Given the description of an element on the screen output the (x, y) to click on. 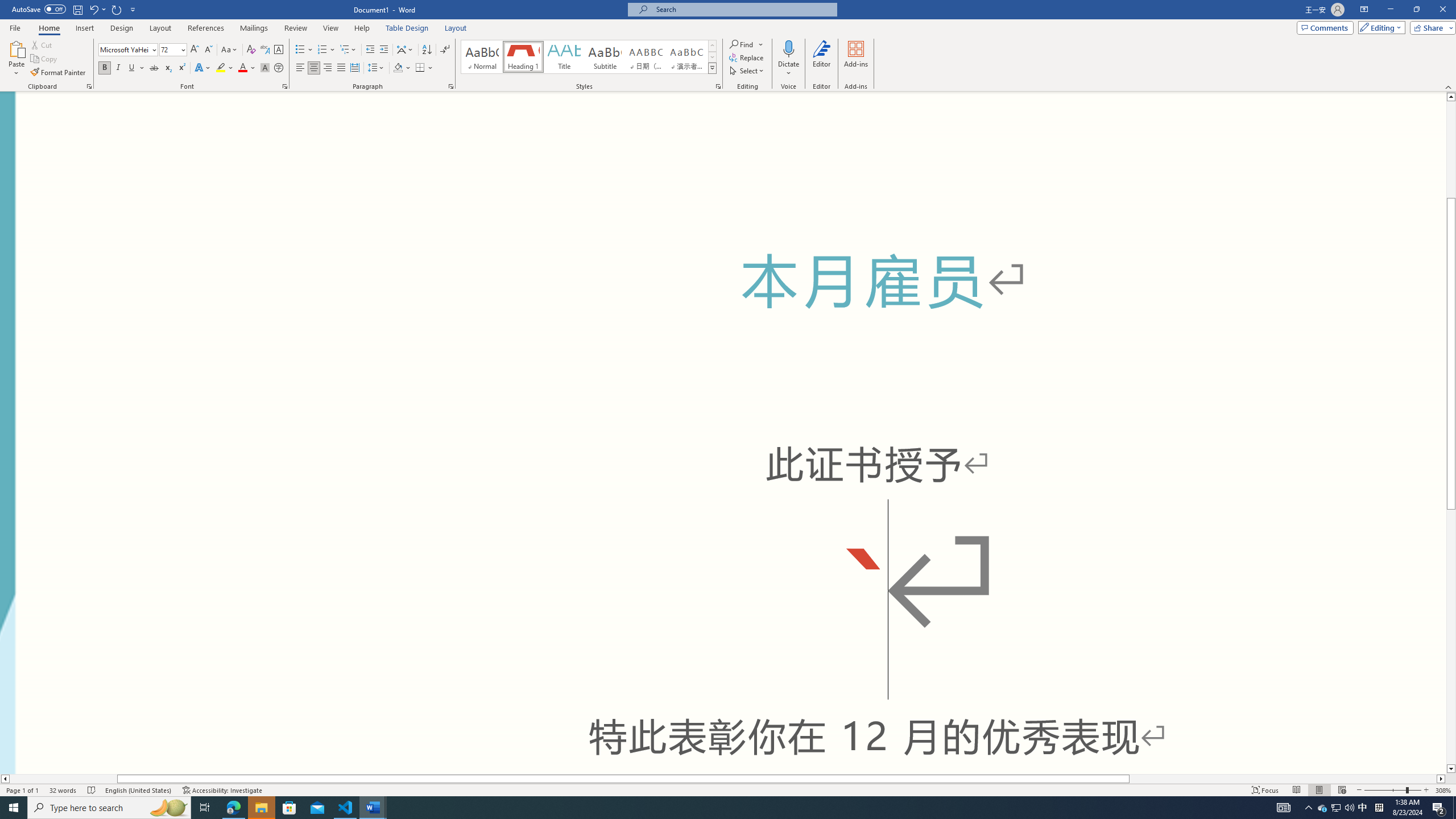
Find (742, 44)
Font Size (172, 49)
Editing (1379, 27)
Character Shading (264, 67)
Font Color (246, 67)
Font... (285, 85)
Language English (United States) (138, 790)
Character Border (278, 49)
Page right (1283, 778)
Collapse the Ribbon (1448, 86)
Column left (5, 778)
Numbering (322, 49)
Align Left (300, 67)
Spelling and Grammar Check No Errors (91, 790)
Underline (136, 67)
